Given the description of an element on the screen output the (x, y) to click on. 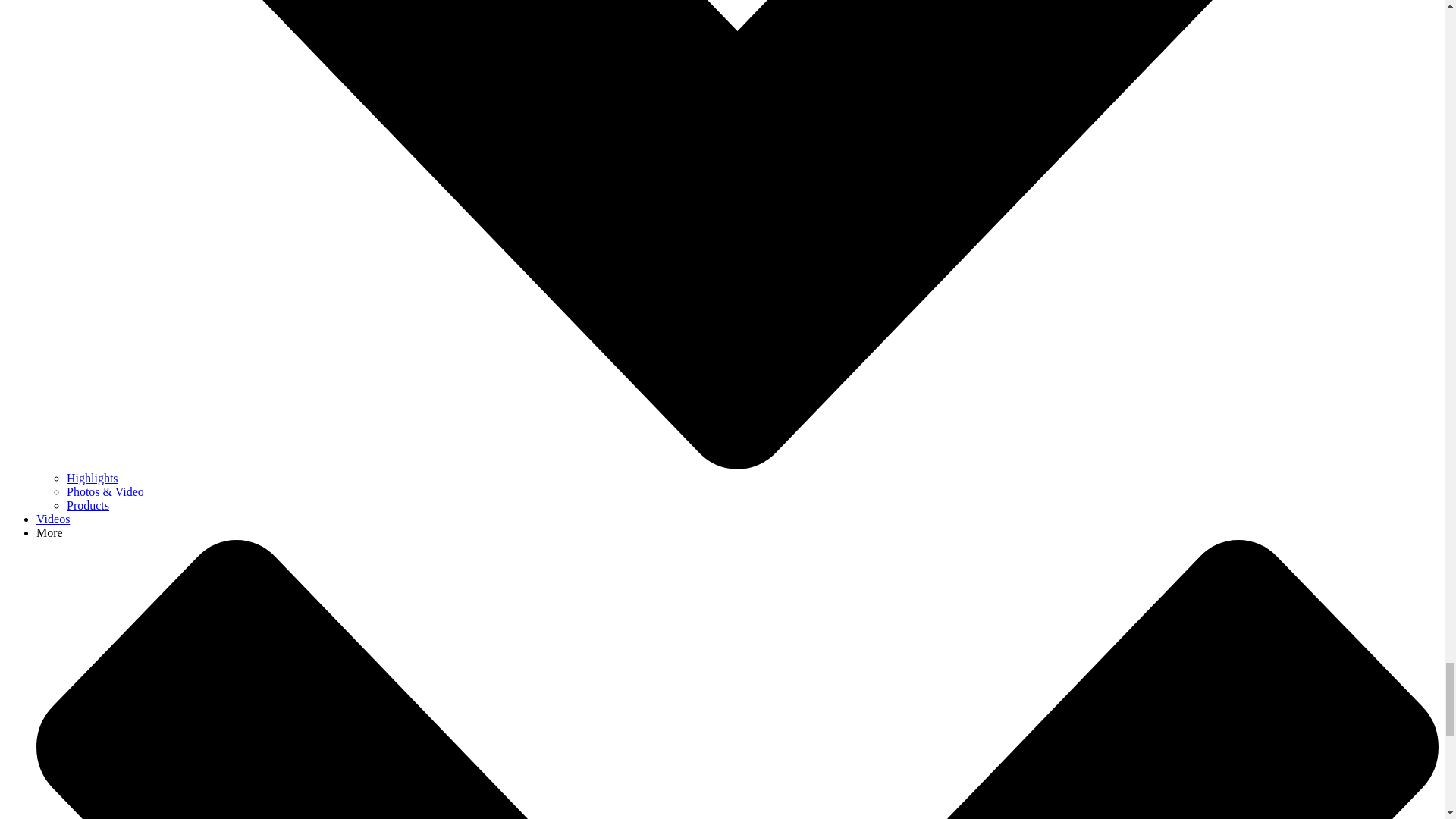
Videos (52, 518)
Products (87, 504)
More (49, 532)
Highlights (91, 477)
